Given the description of an element on the screen output the (x, y) to click on. 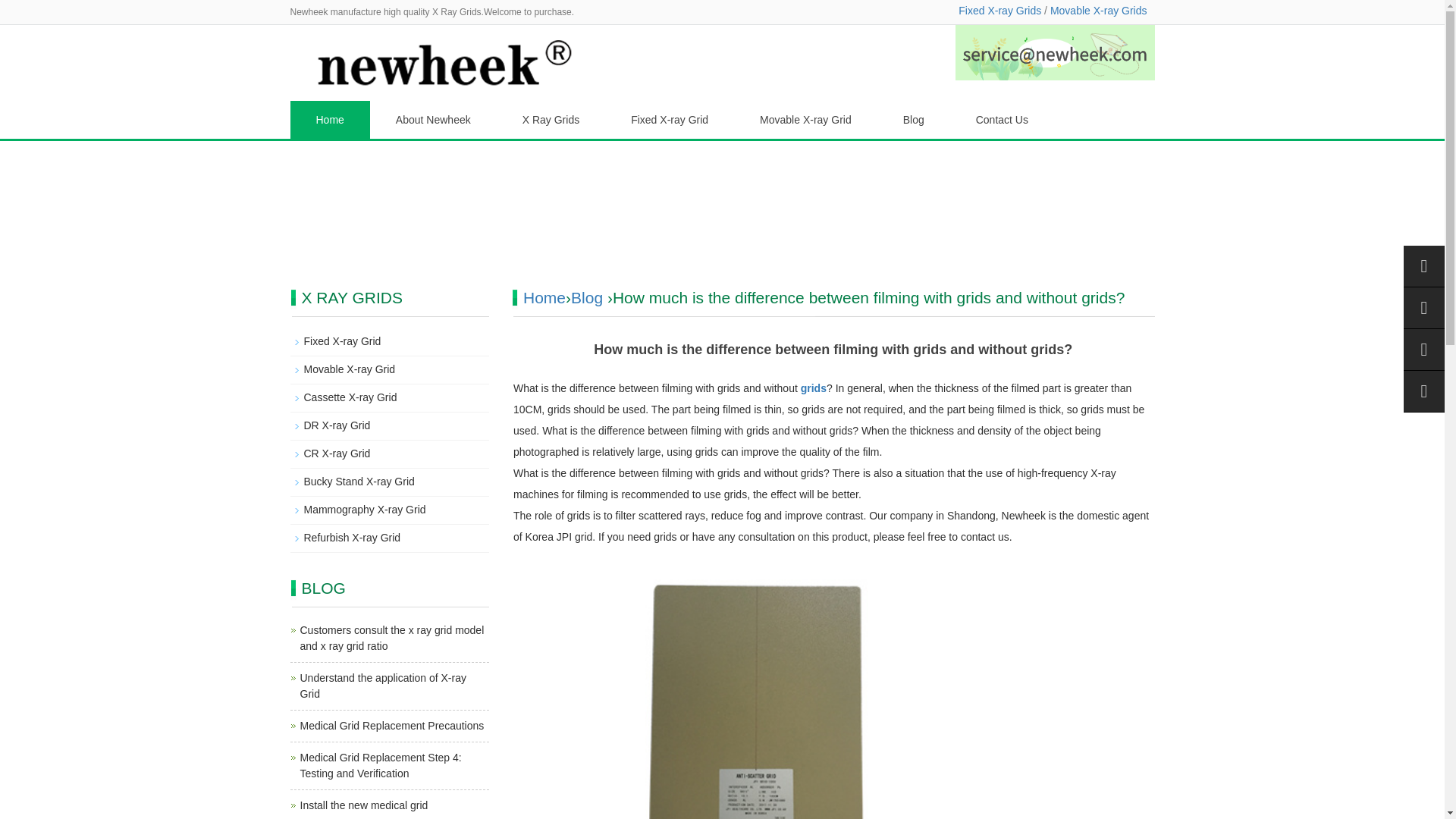
Customers consult the x ray grid model and x ray grid ratio (391, 637)
Contact Us (1002, 119)
Home (544, 297)
Fixed X-ray Grid (669, 119)
Blog (913, 119)
Home (329, 119)
X Ray Grids (550, 119)
Back to Home page (544, 297)
Blog (586, 297)
Medical Grid Replacement Step 4: Testing and Verification (380, 765)
